Given the description of an element on the screen output the (x, y) to click on. 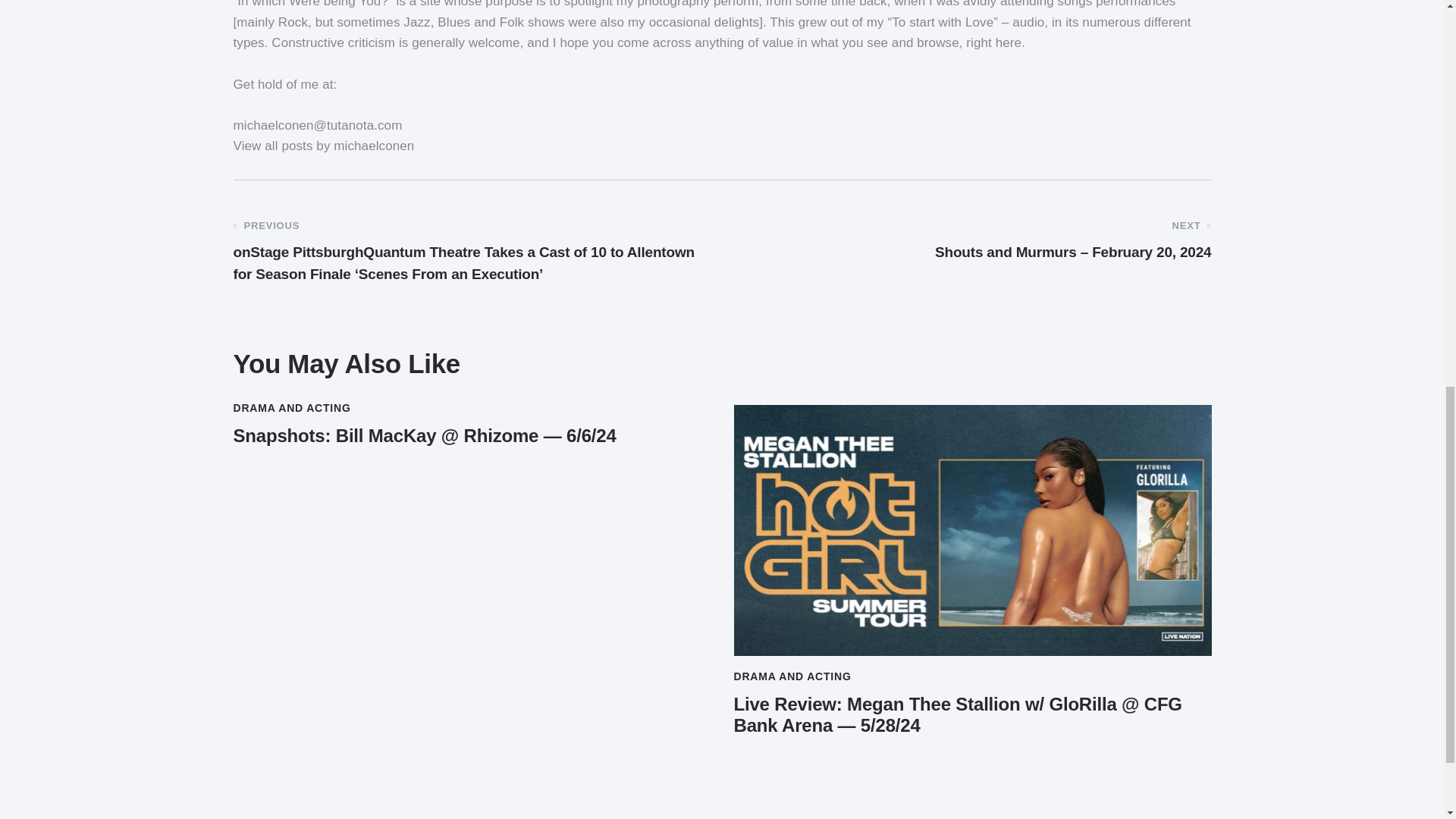
DRAMA AND ACTING (792, 676)
DRAMA AND ACTING (291, 408)
